Given the description of an element on the screen output the (x, y) to click on. 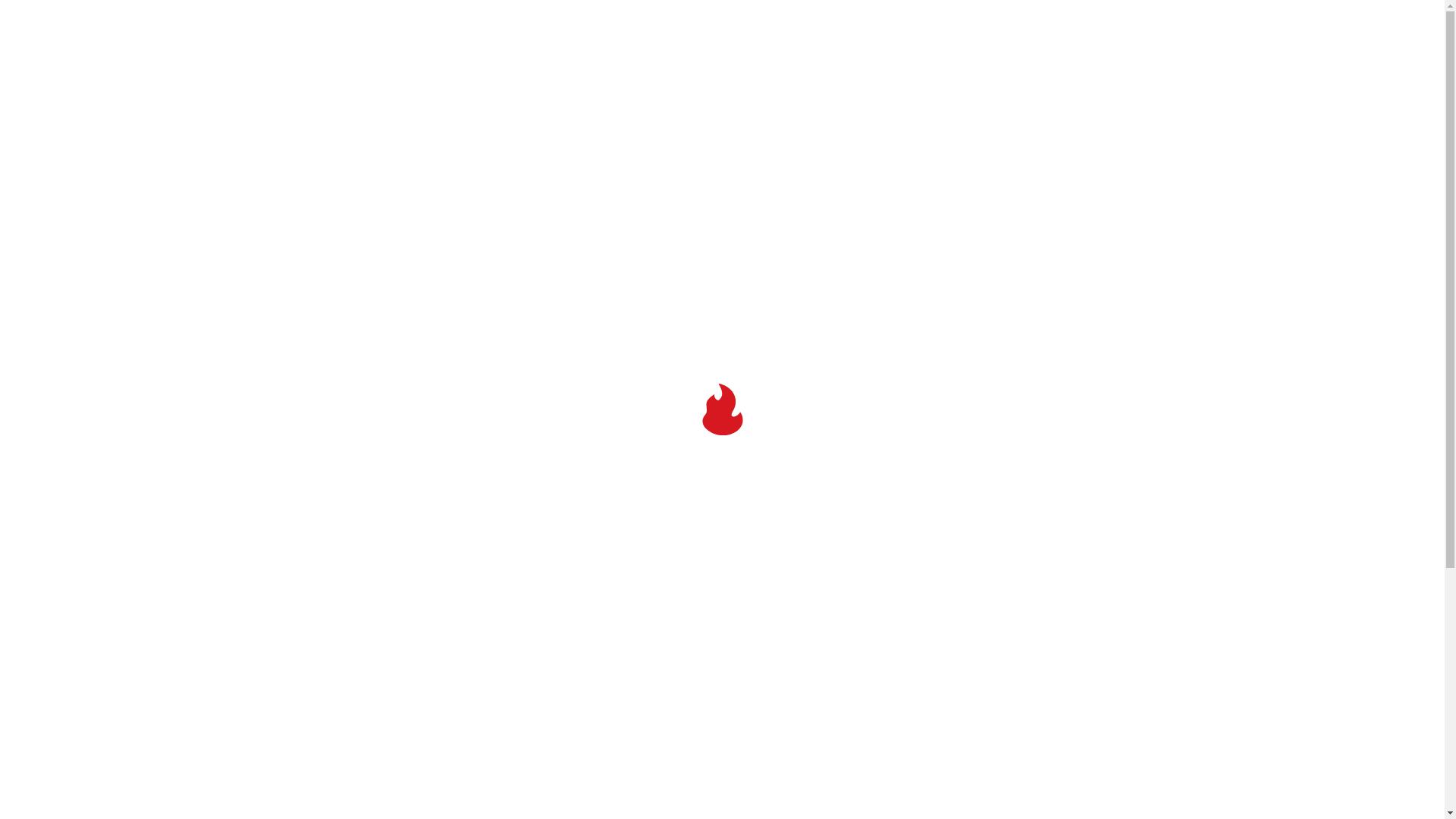
About Us Element type: text (723, 66)
1300 FIRE01 (347301) Element type: text (1067, 15)
Case Studies Element type: text (943, 66)
News Element type: text (1035, 66)
Contact Element type: text (1112, 66)
Our Services Element type: text (828, 66)
